Given the description of an element on the screen output the (x, y) to click on. 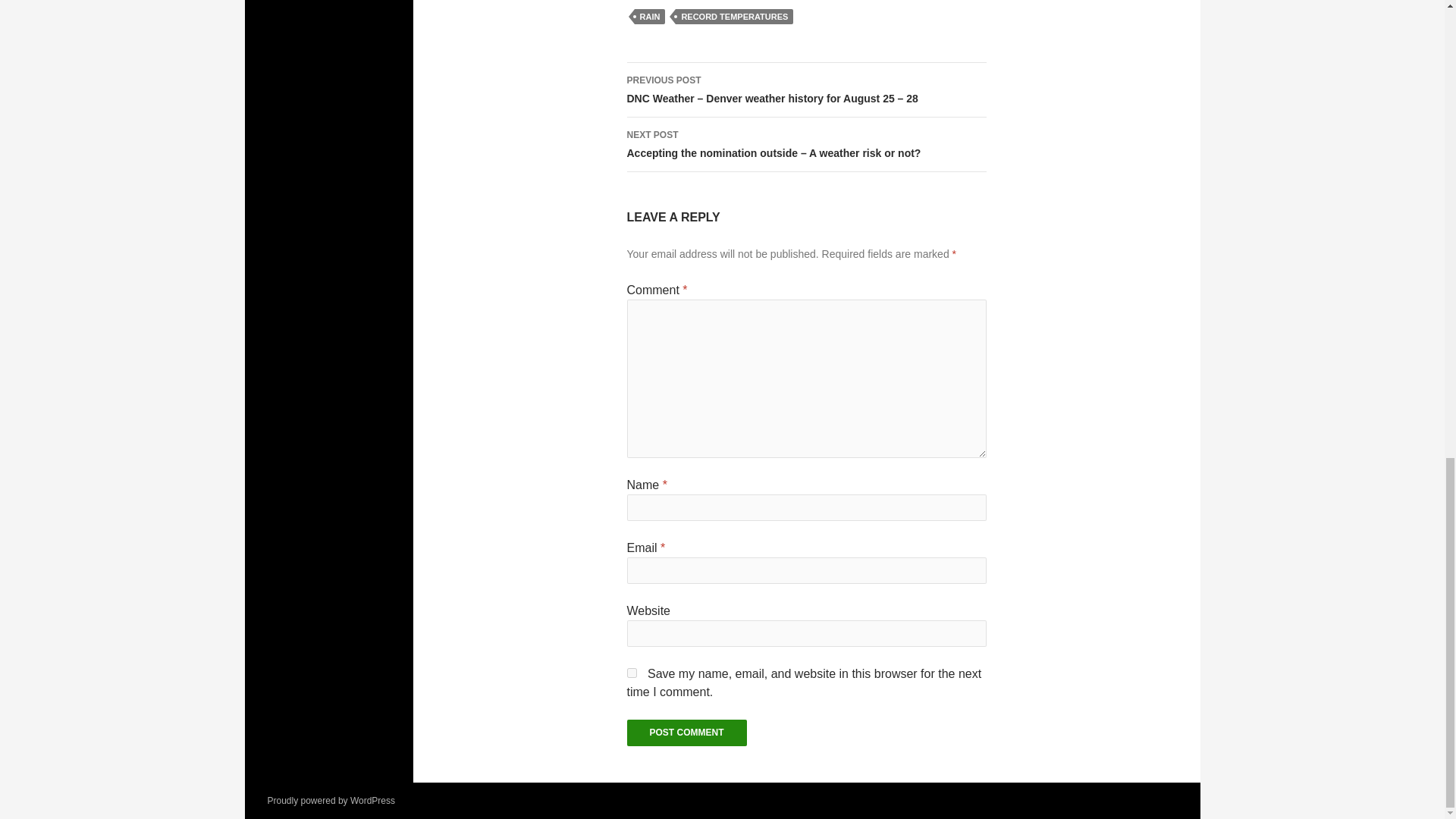
yes (631, 673)
RAIN (649, 16)
RECORD TEMPERATURES (734, 16)
Post Comment (685, 732)
Post Comment (685, 732)
